Given the description of an element on the screen output the (x, y) to click on. 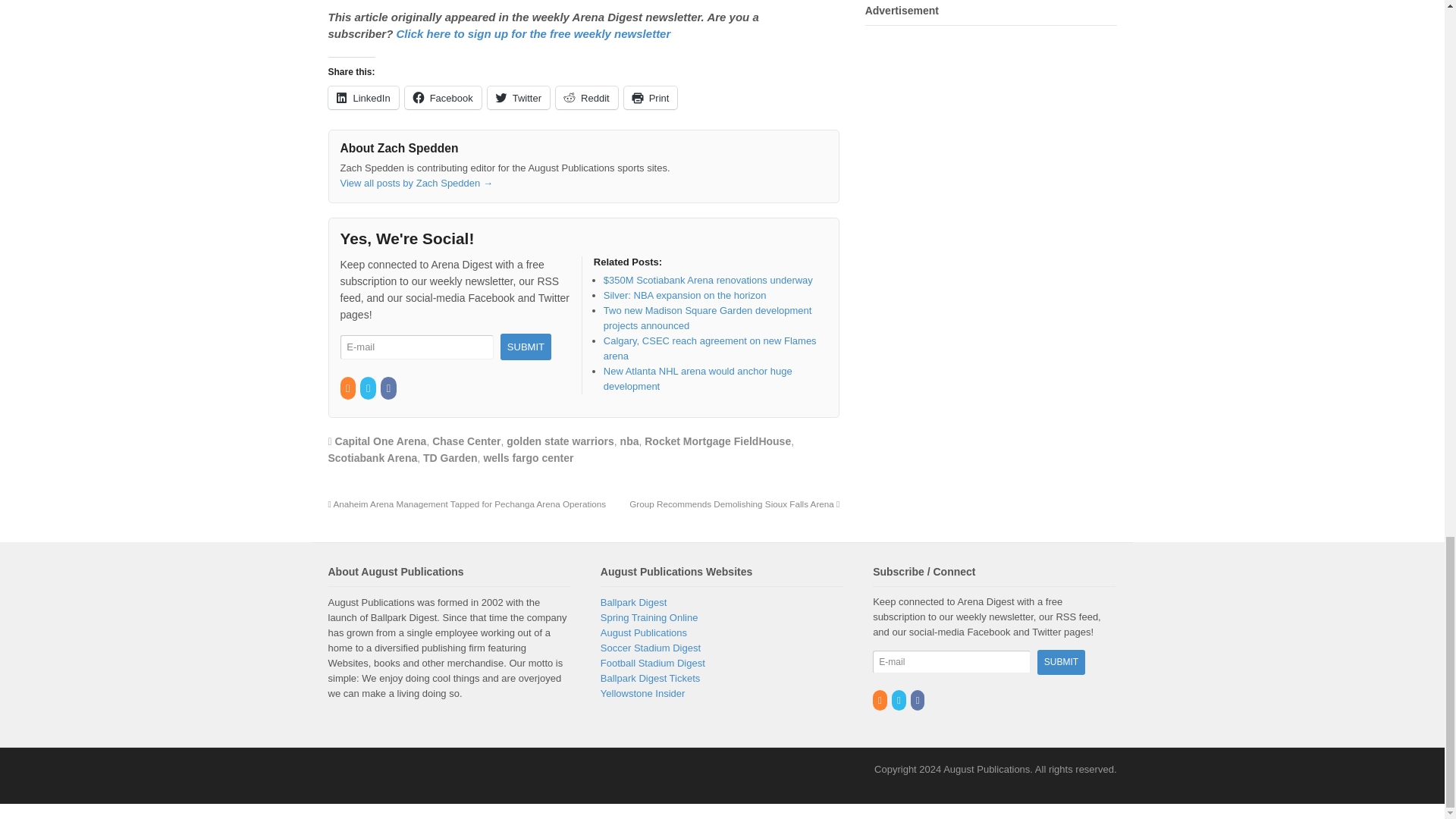
Submit (525, 346)
Click to print (651, 97)
Click to share on Reddit (586, 97)
Click to share on LinkedIn (362, 97)
RSS (347, 388)
Submit (1060, 662)
Twitter (368, 388)
Click to share on Facebook (442, 97)
E-mail (951, 661)
Facebook (388, 388)
